Given the description of an element on the screen output the (x, y) to click on. 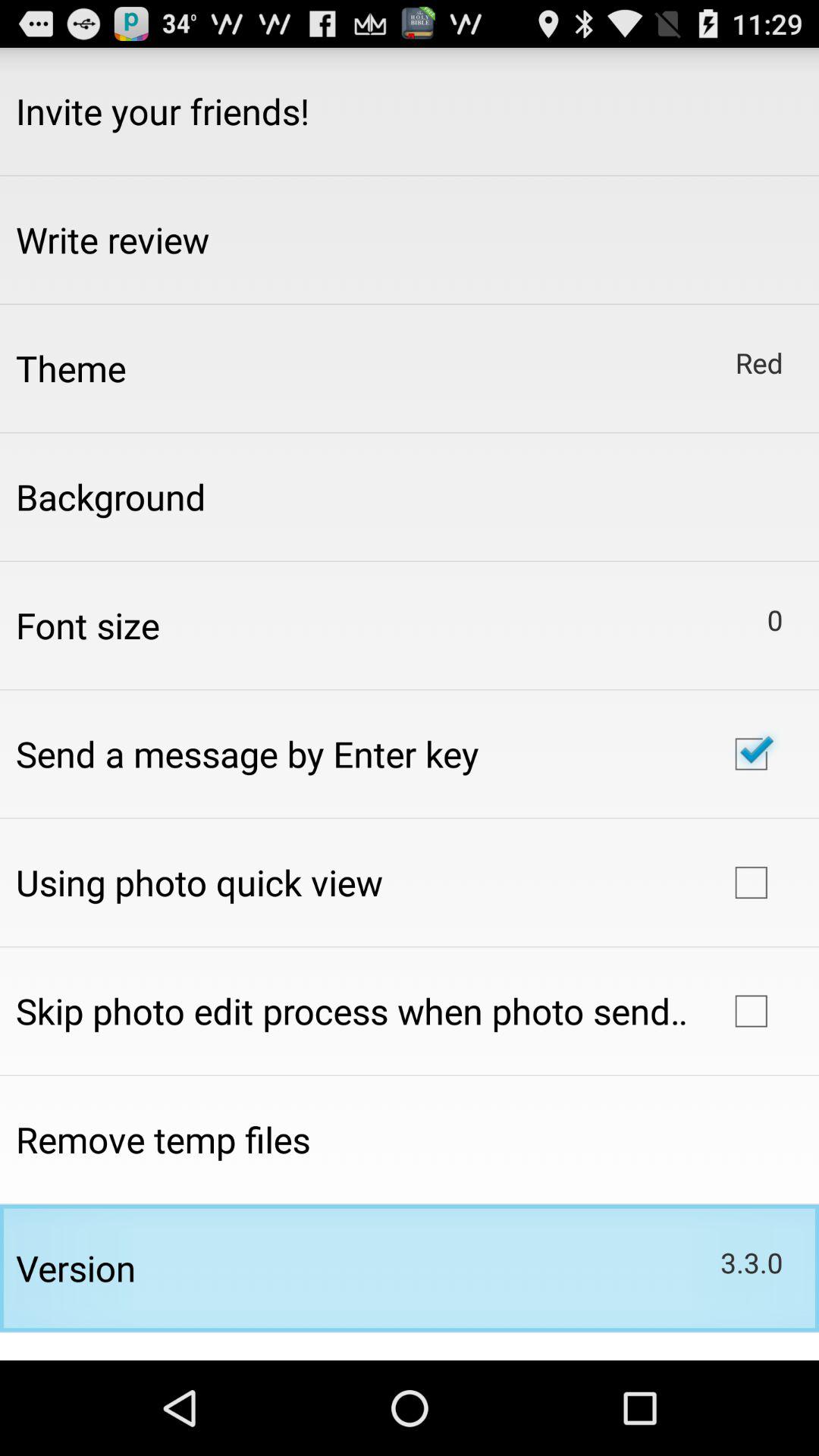
launch app below the write review icon (70, 368)
